Given the description of an element on the screen output the (x, y) to click on. 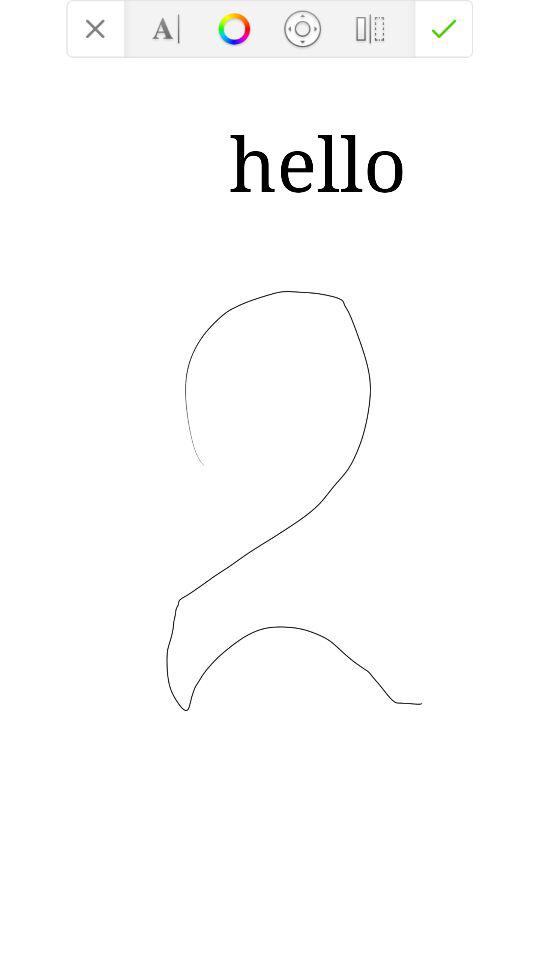
accept drawing (444, 28)
